Given the description of an element on the screen output the (x, y) to click on. 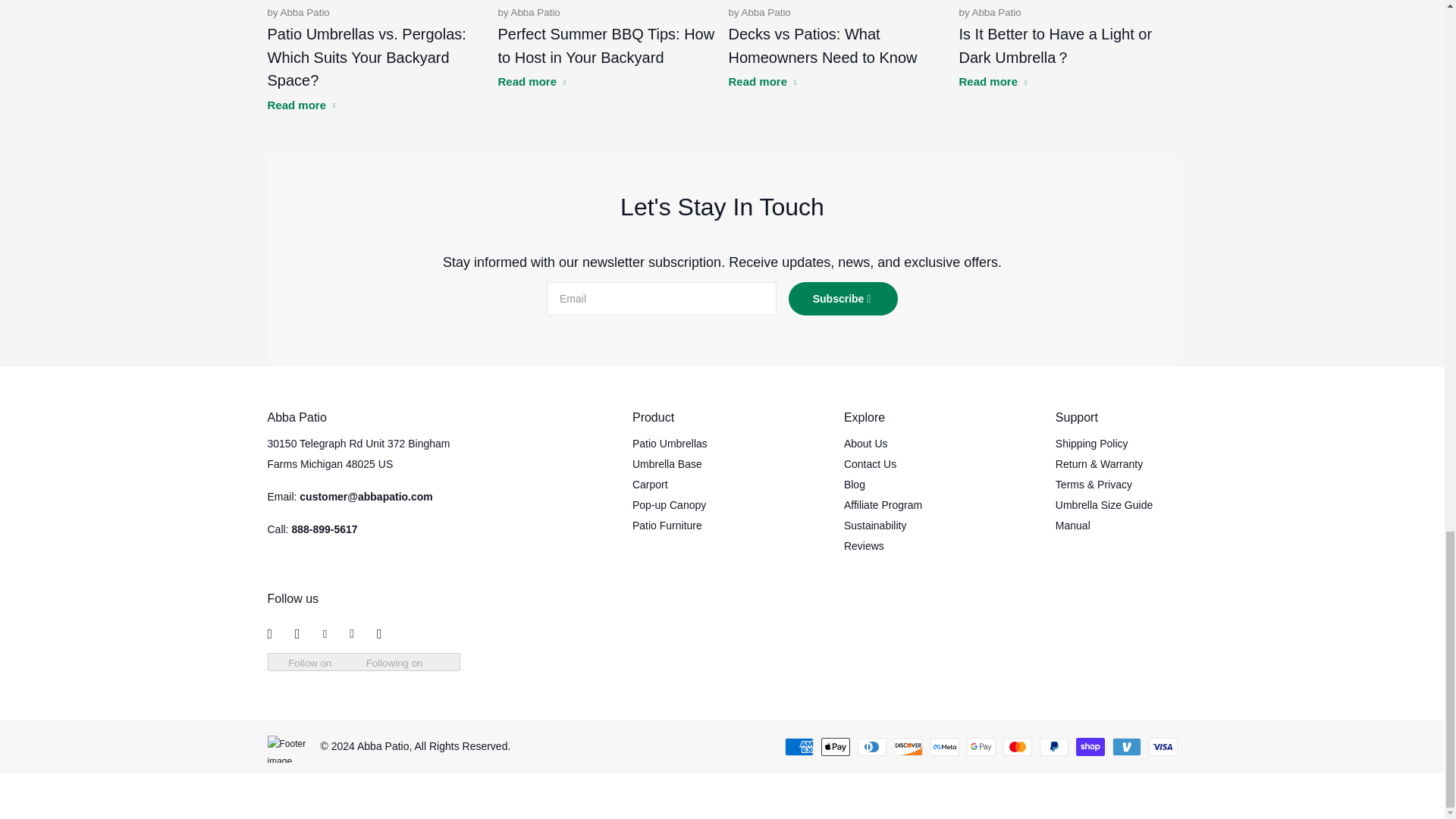
Mastercard (1016, 746)
Meta Pay (944, 746)
Manual (1072, 525)
American Express (798, 746)
PayPal (1053, 746)
Carport (649, 484)
About Us (866, 443)
Reviews (863, 545)
Patio Umbrellas (669, 443)
Google Pay (980, 746)
